Given the description of an element on the screen output the (x, y) to click on. 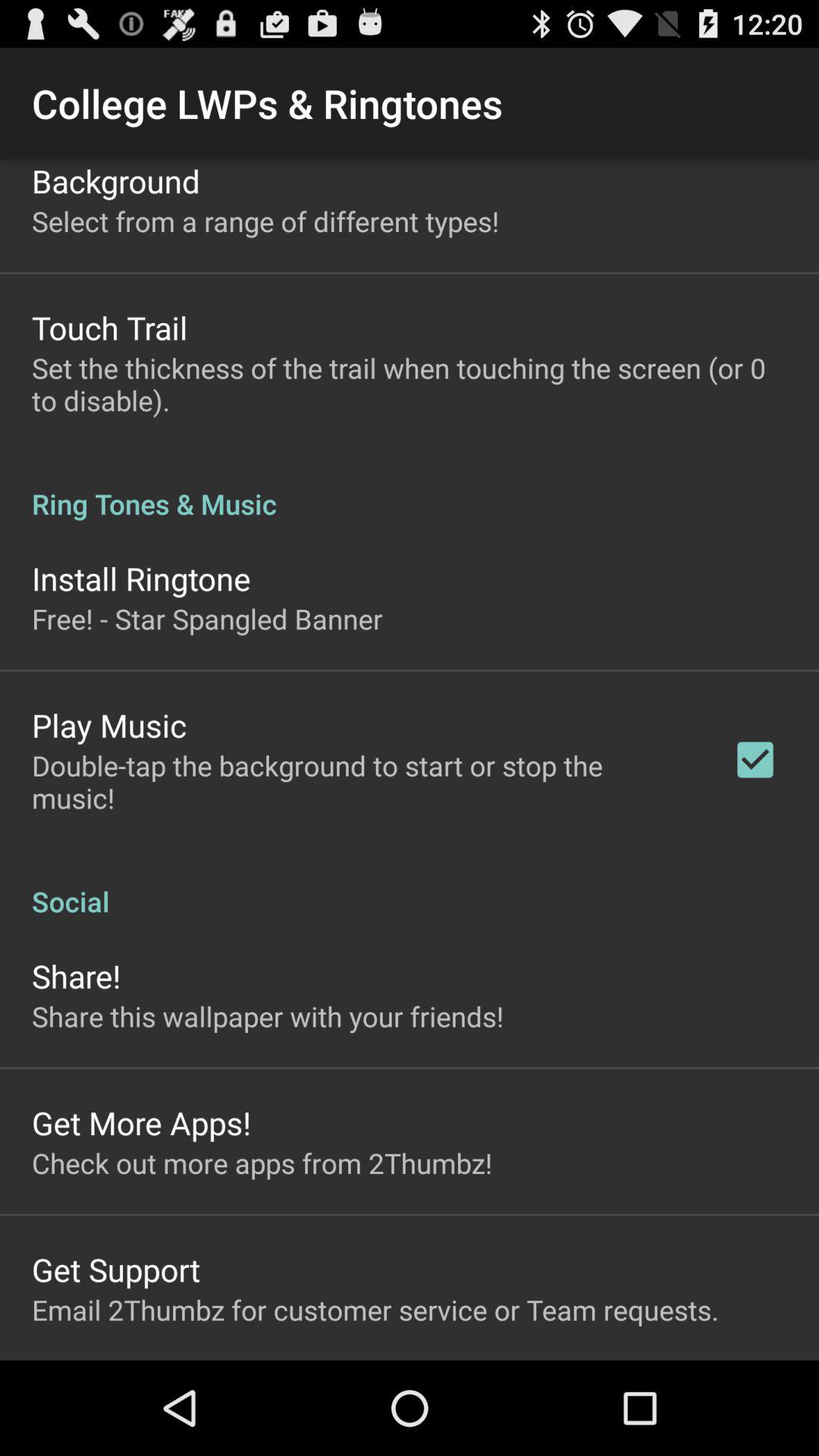
click the app next to the double tap the icon (755, 759)
